Given the description of an element on the screen output the (x, y) to click on. 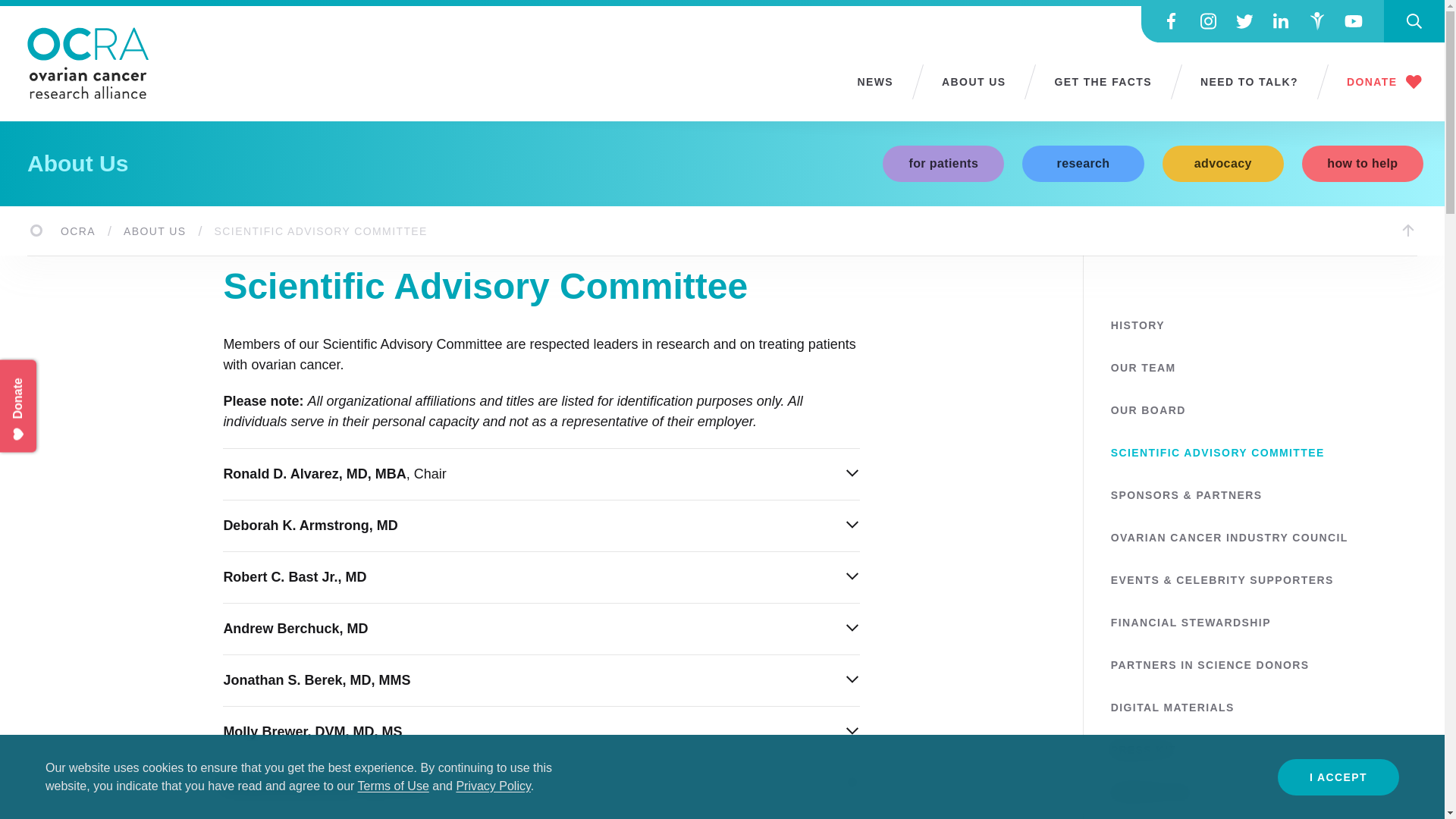
Persistent Donate Button (48, 377)
Privacy Policy (492, 785)
I ACCEPT (1338, 776)
for patients (943, 163)
Terms of Use (393, 785)
research (1082, 163)
